Given the description of an element on the screen output the (x, y) to click on. 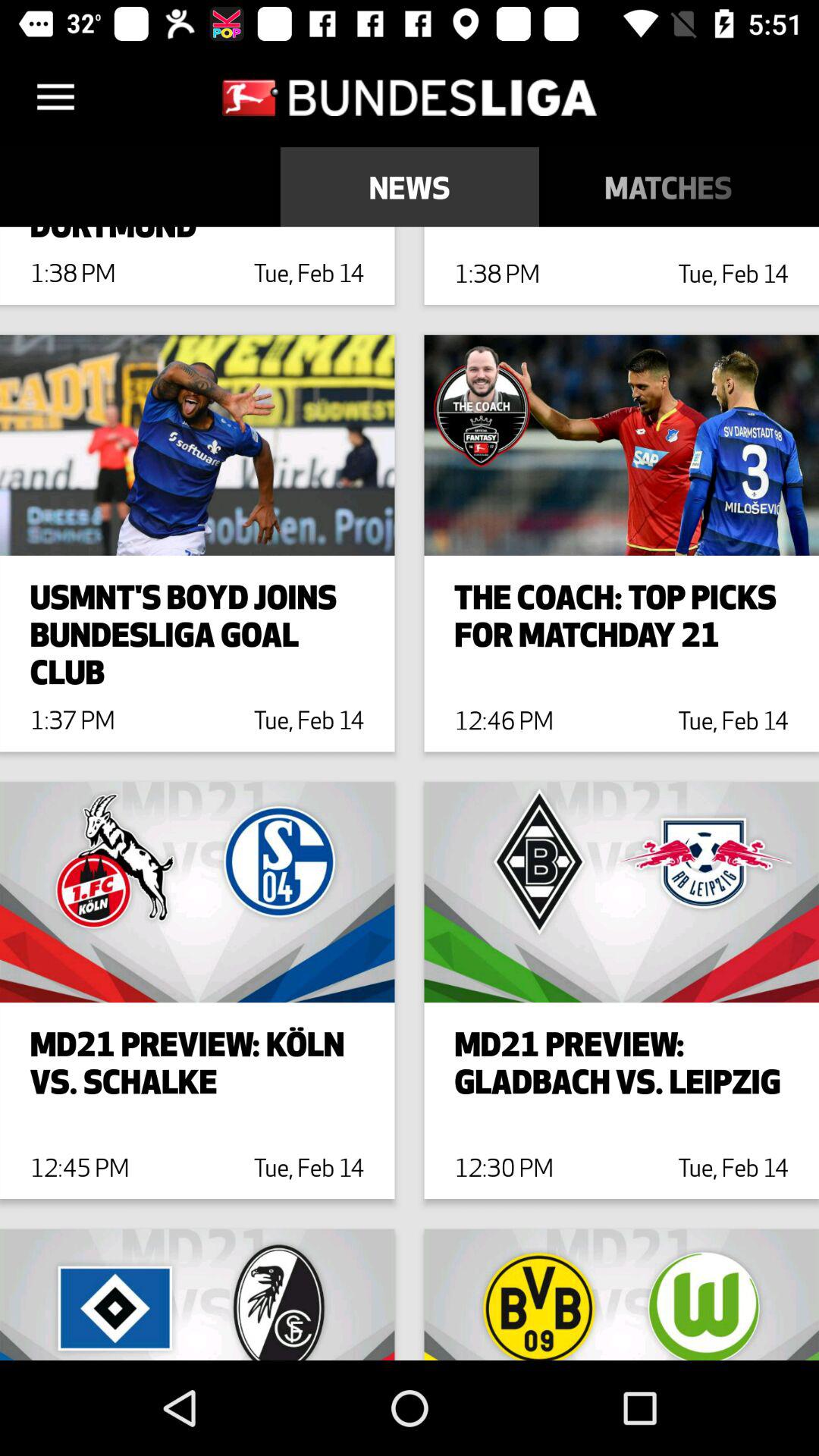
open news (409, 186)
